Given the description of an element on the screen output the (x, y) to click on. 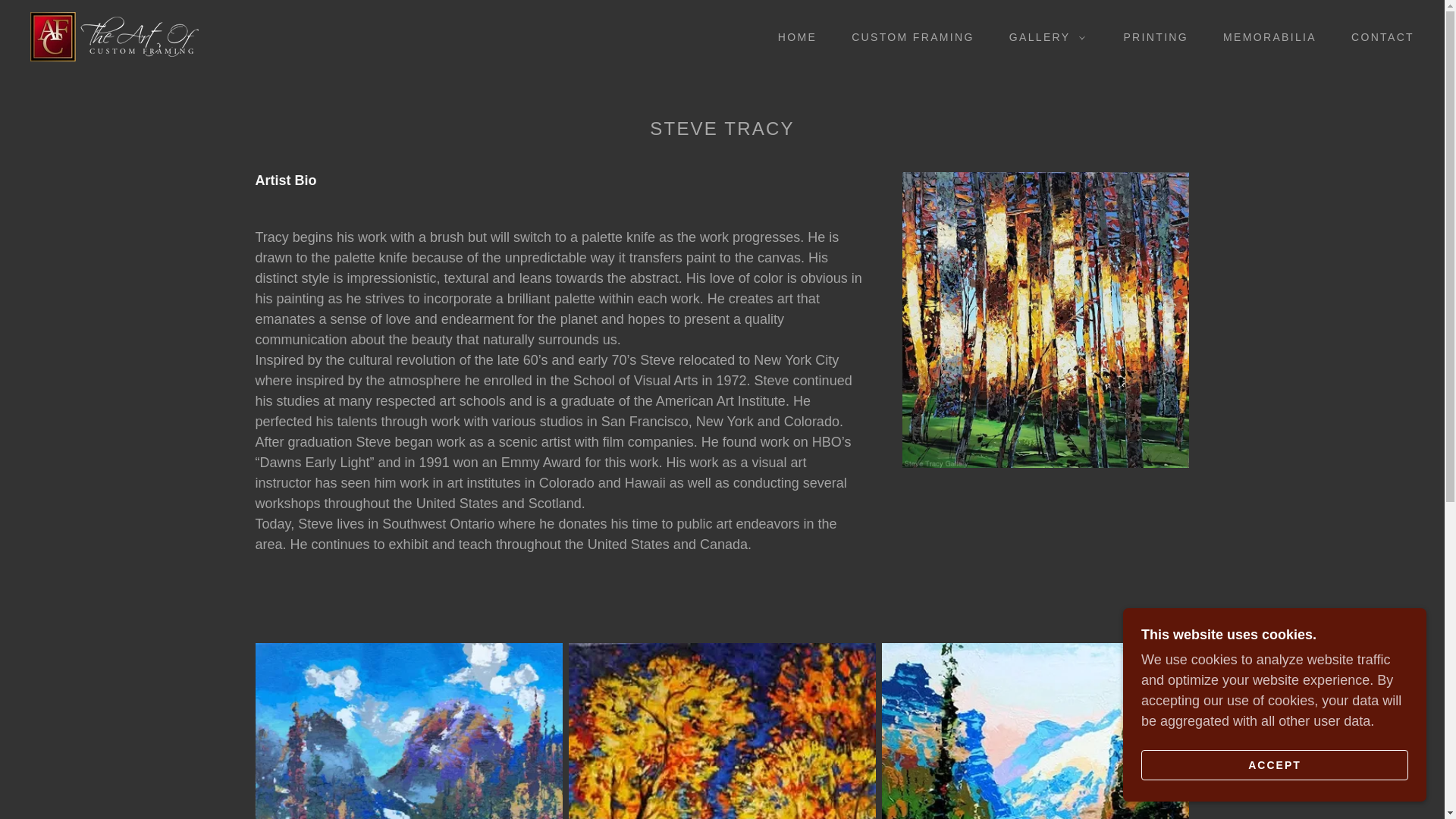
CONTACT (1377, 35)
The Art of Custom Framing (114, 35)
CUSTOM FRAMING (906, 35)
PRINTING (1150, 35)
ACCEPT (1274, 764)
MEMORABILIA (1264, 35)
GALLERY (1043, 36)
HOME (791, 35)
